Given the description of an element on the screen output the (x, y) to click on. 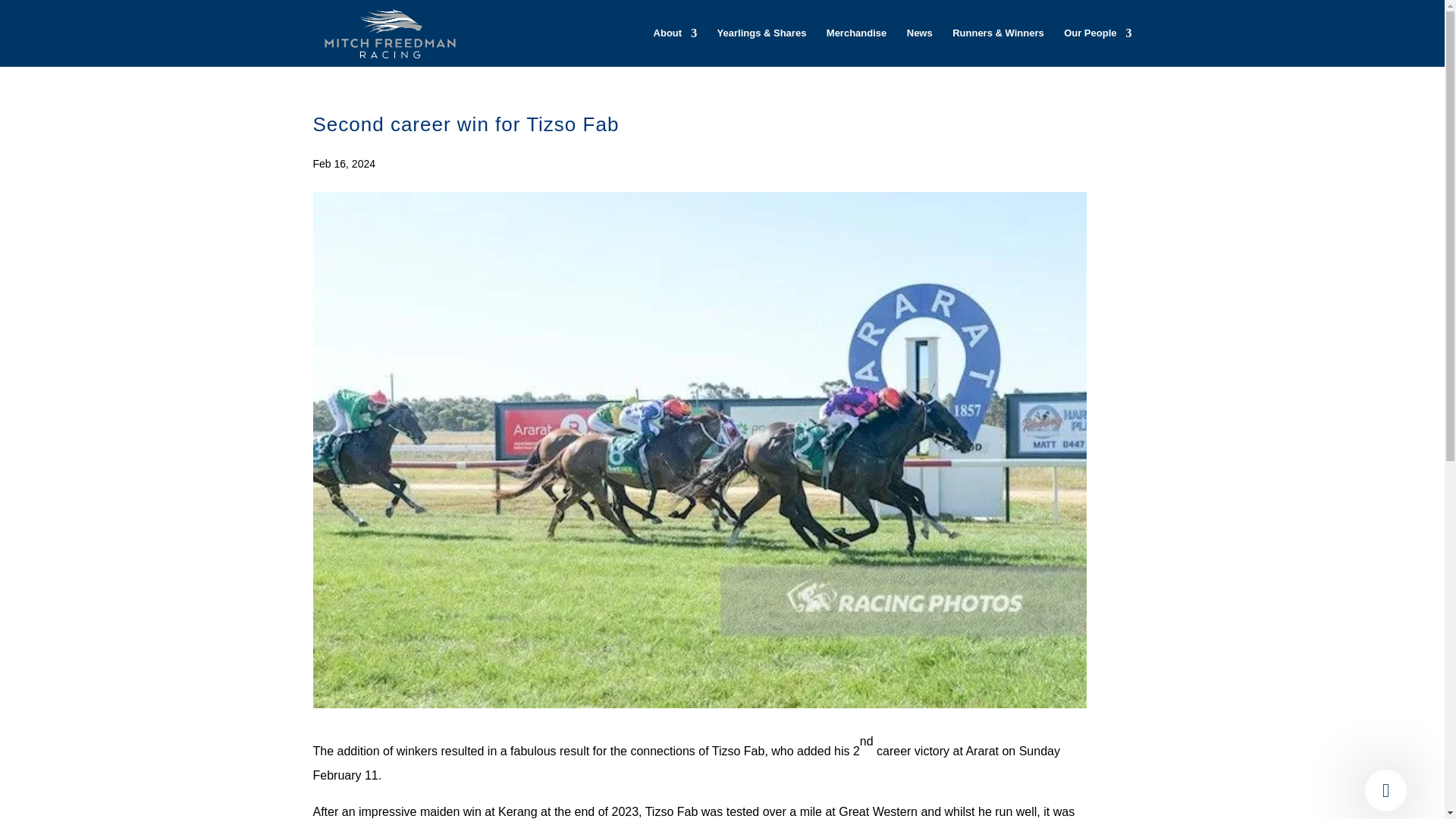
About (675, 46)
Merchandise (856, 46)
Our People (1097, 46)
